Given the description of an element on the screen output the (x, y) to click on. 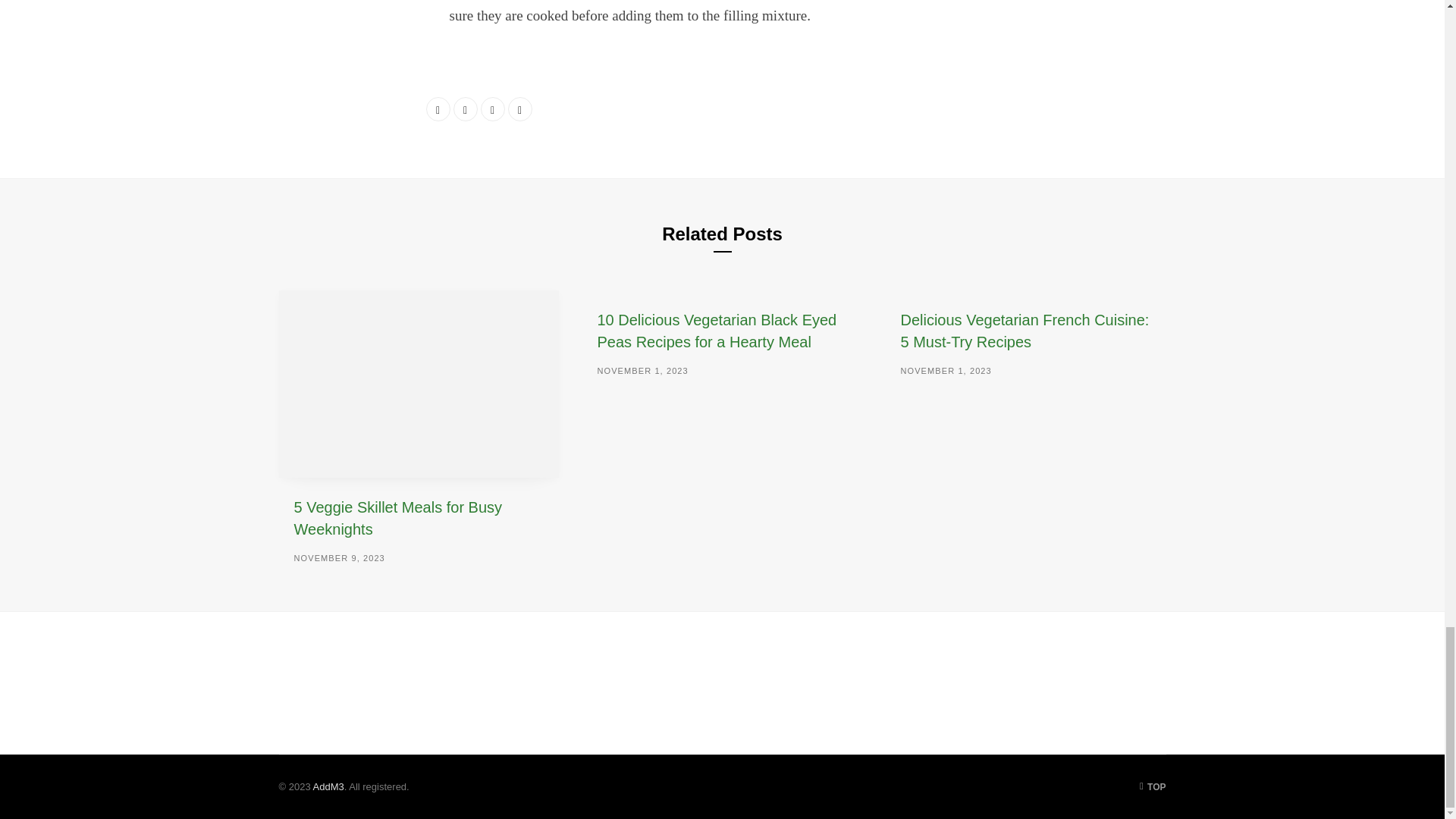
Delicious Vegetarian French Cuisine: 5 Must-Try Recipes (1023, 331)
Share on Facebook (437, 109)
LinkedIn (492, 109)
TOP (1153, 786)
5 Veggie Skillet Meals for Busy Weeknights (419, 383)
Pinterest (520, 109)
Share on Twitter (464, 109)
5 Veggie Skillet Meals for Busy Weeknights (398, 517)
AddM3 (328, 786)
